Given the description of an element on the screen output the (x, y) to click on. 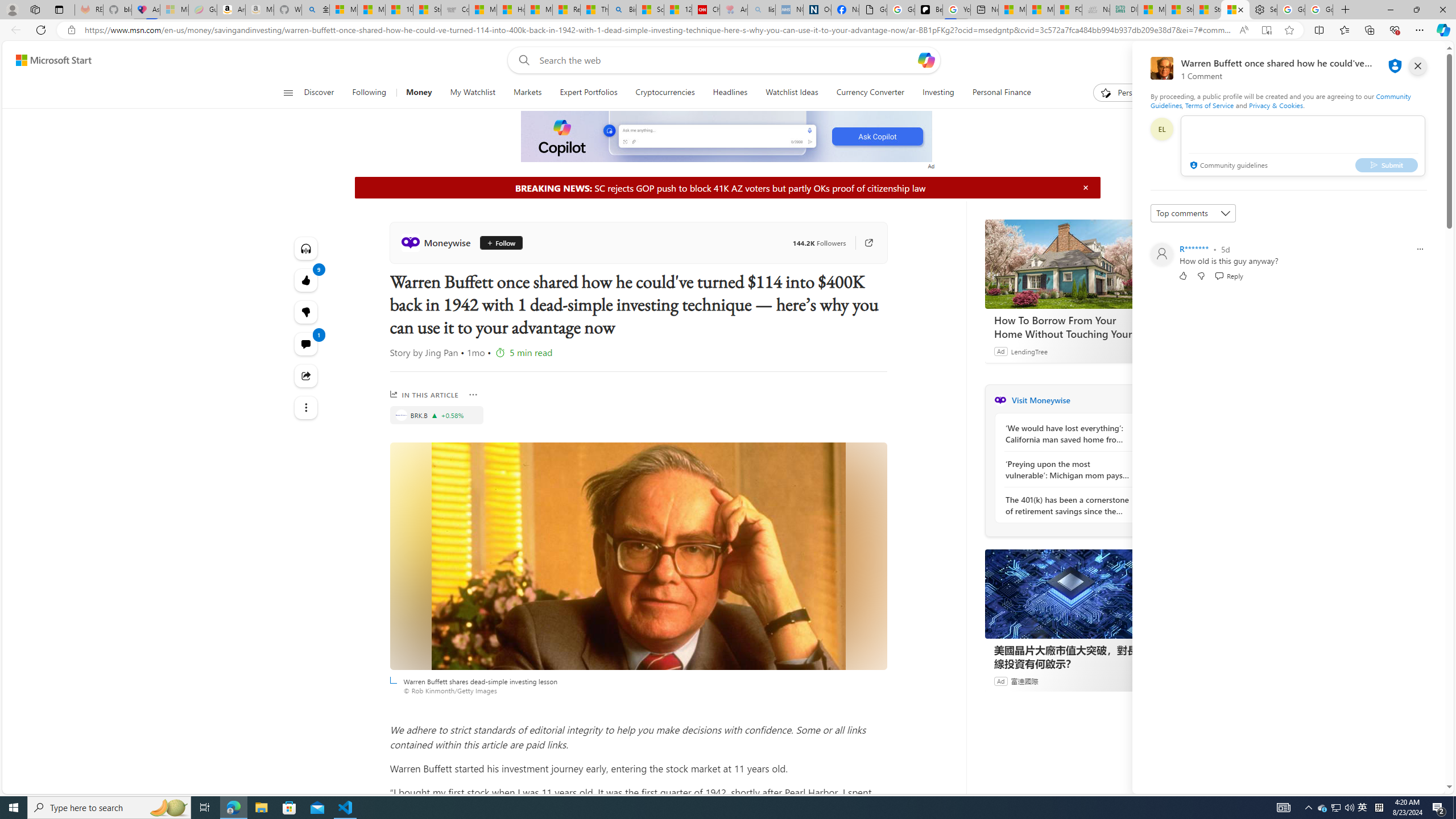
Watchlist Ideas (791, 92)
To get missing image descriptions, open the context menu. (726, 136)
Money (418, 92)
Watchlist Ideas (792, 92)
Ad (999, 681)
How To Borrow From Your Home Without Touching Your Mortgage (1070, 263)
Open settings (1420, 60)
Notifications (1397, 60)
